Given the description of an element on the screen output the (x, y) to click on. 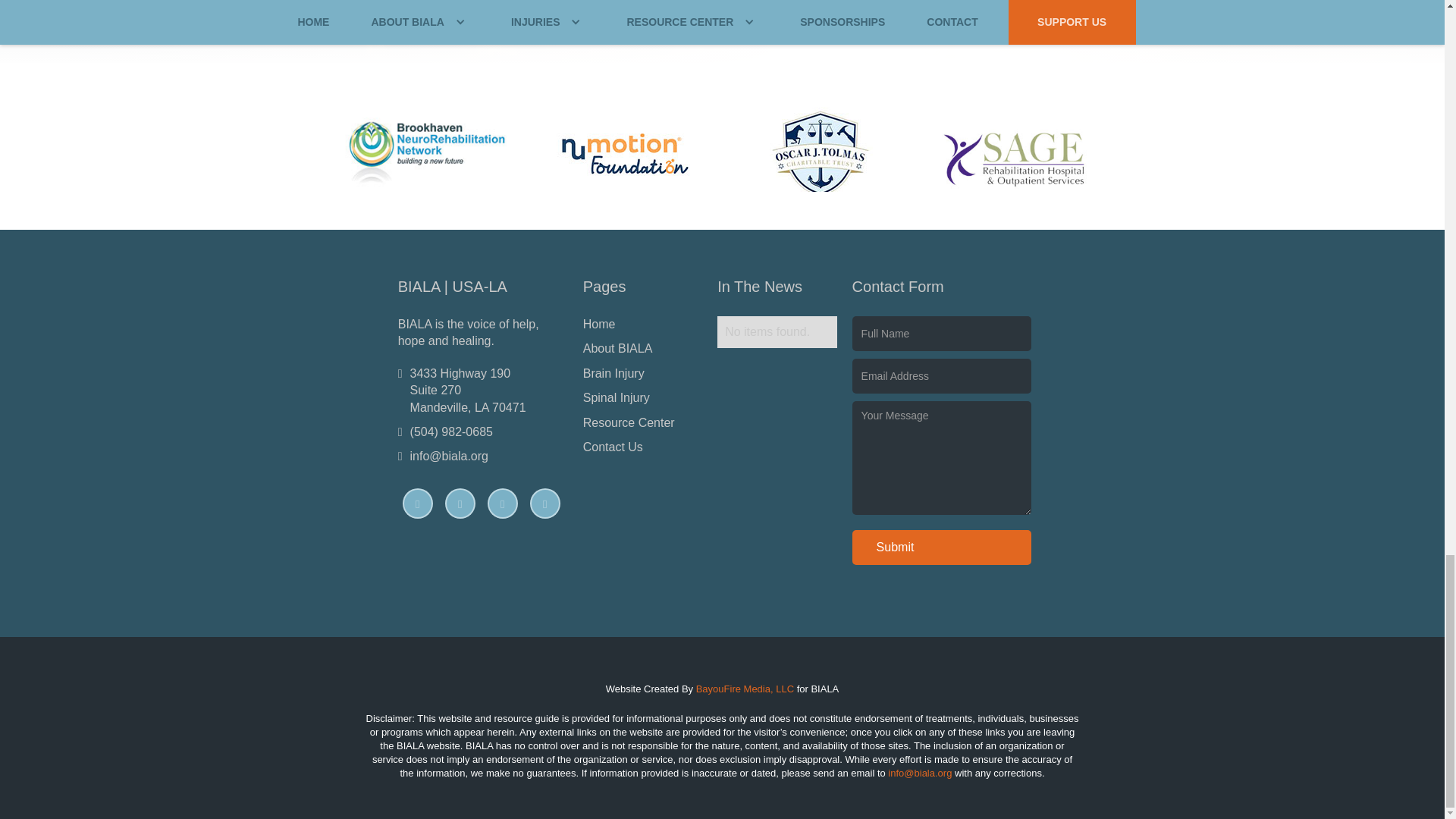
Submit (941, 547)
